Given the description of an element on the screen output the (x, y) to click on. 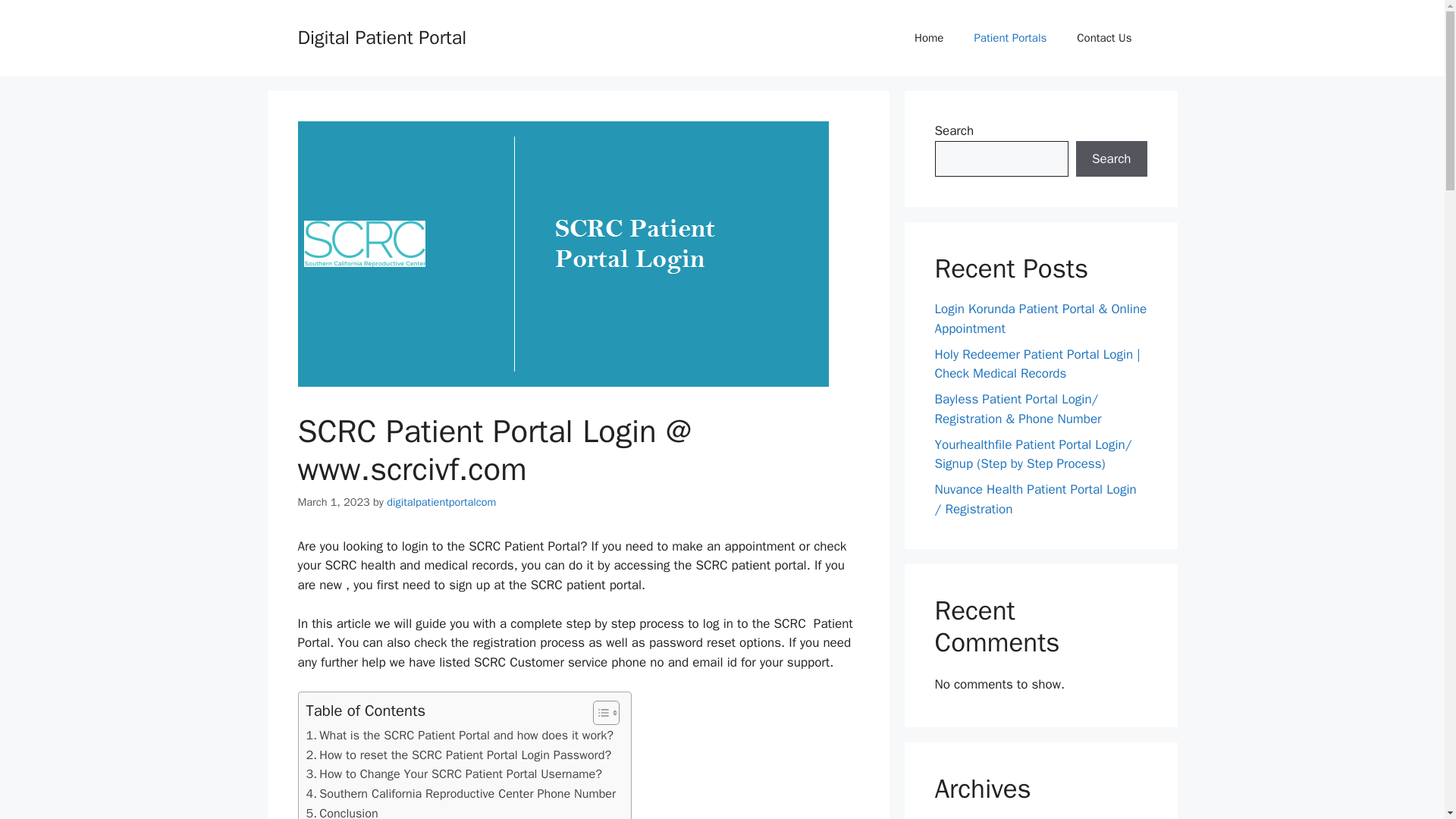
Southern California Reproductive Center Phone Number (460, 793)
How to Change Your SCRC Patient Portal Username? (453, 773)
How to reset the SCRC Patient Portal Login Password? (458, 754)
How to Change Your SCRC Patient Portal Username? (453, 773)
View all posts by digitalpatientportalcom (441, 501)
Search (1111, 158)
Conclusion (341, 811)
How to reset the SCRC Patient Portal Login Password? (458, 754)
Patient Portals (1009, 37)
What is the SCRC Patient Portal and how does it work? (459, 735)
